Given the description of an element on the screen output the (x, y) to click on. 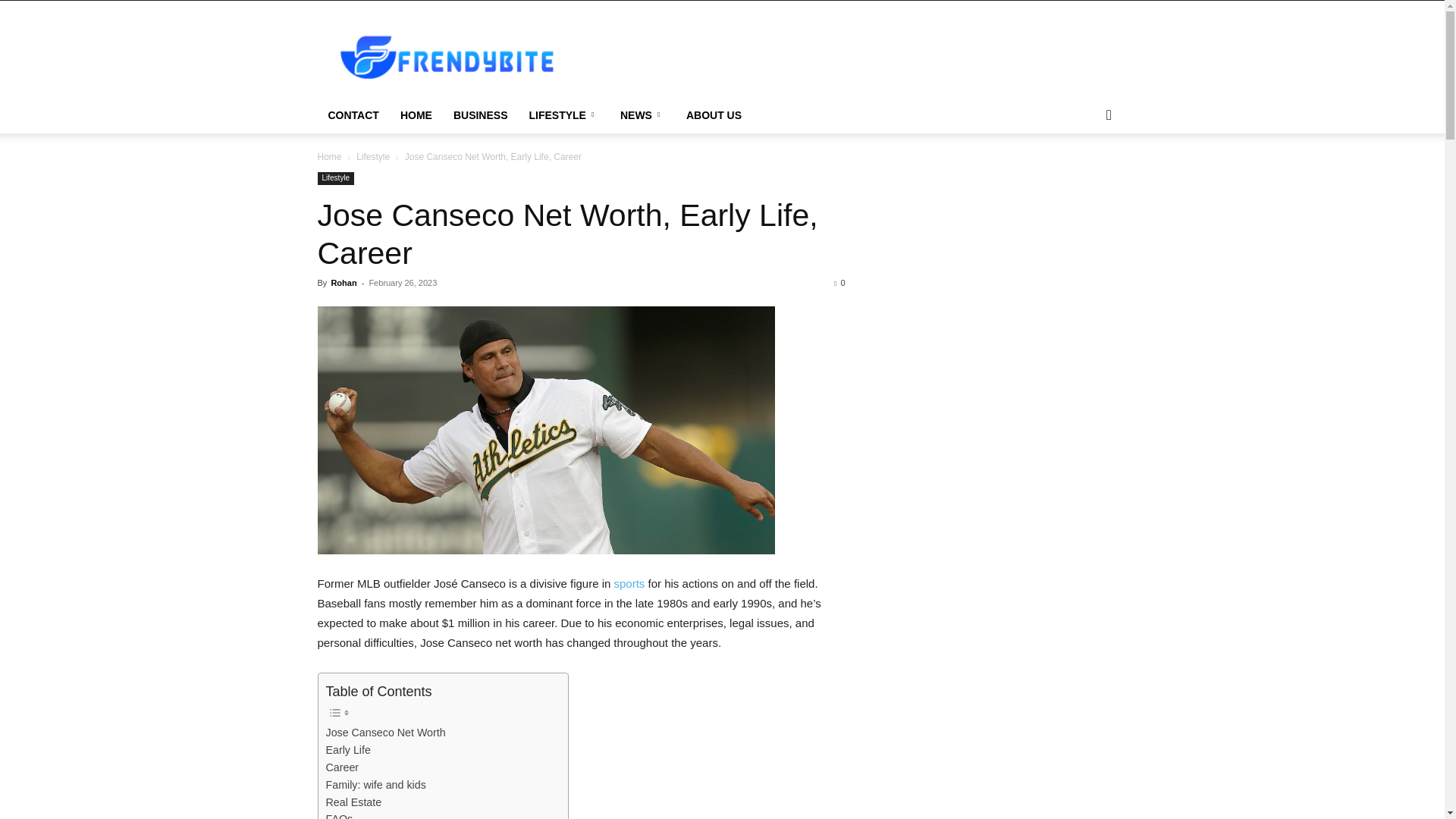
Early Life (348, 750)
Real Estate (353, 802)
NEWS (642, 115)
Family: wife and kids (376, 784)
FAQs (339, 814)
Career (342, 767)
JOSE CANSECO NET WORTH (545, 430)
View all posts in Lifestyle (373, 156)
Rohan (343, 282)
0 (839, 282)
Home (328, 156)
Lifestyle (373, 156)
sports (629, 583)
BUSINESS (480, 115)
ABOUT US (713, 115)
